Given the description of an element on the screen output the (x, y) to click on. 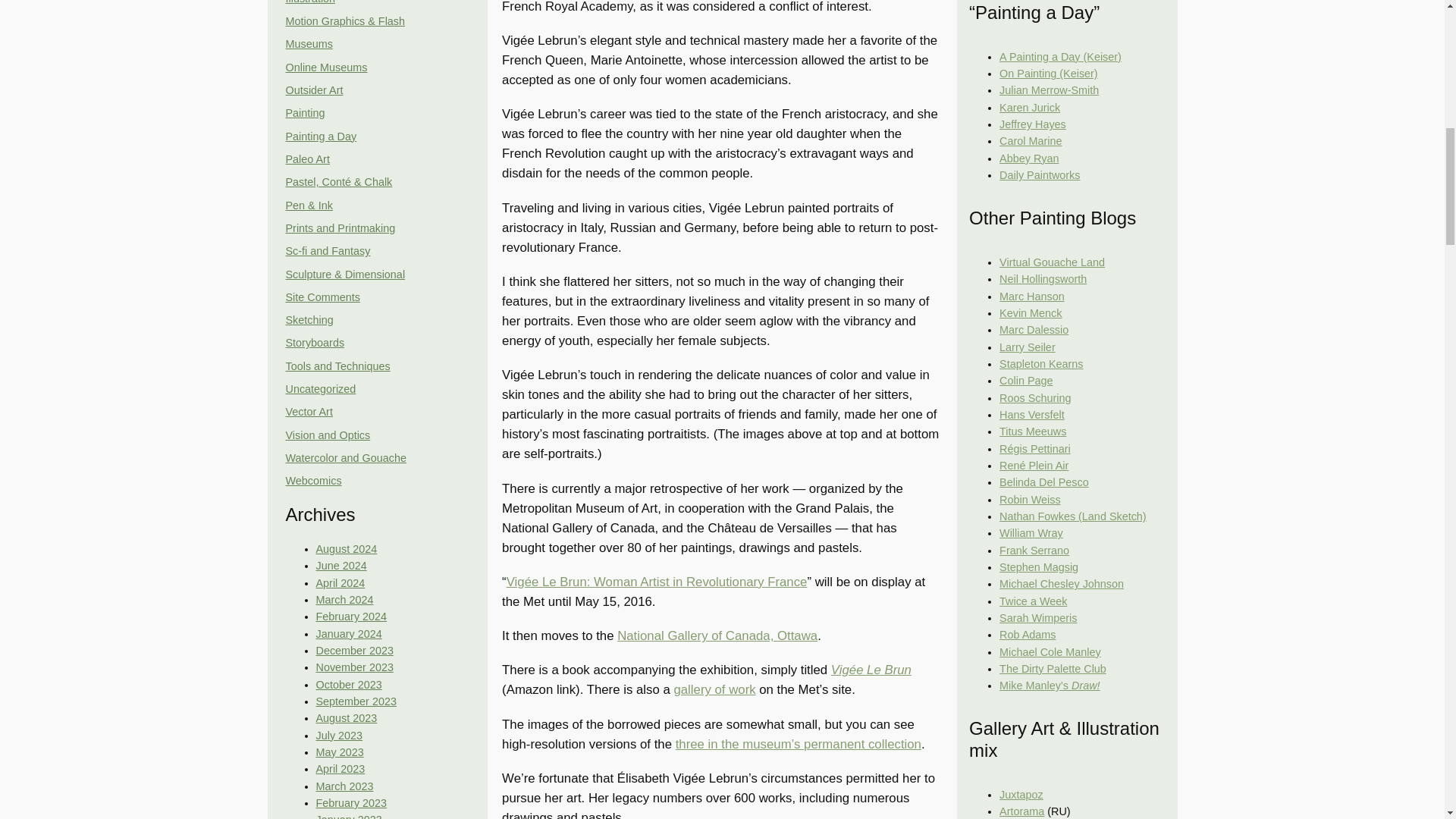
Tools and Techniques (337, 366)
Painting a Day (320, 136)
Online Museums (325, 67)
Museums (308, 43)
Sketching (309, 319)
Painting (304, 112)
Site Comments (322, 297)
Sc-fi and Fantasy (327, 250)
Illustration (309, 2)
Storyboards (314, 342)
Outsider Art (313, 90)
Prints and Printmaking (339, 227)
Paleo Art (307, 159)
